Given the description of an element on the screen output the (x, y) to click on. 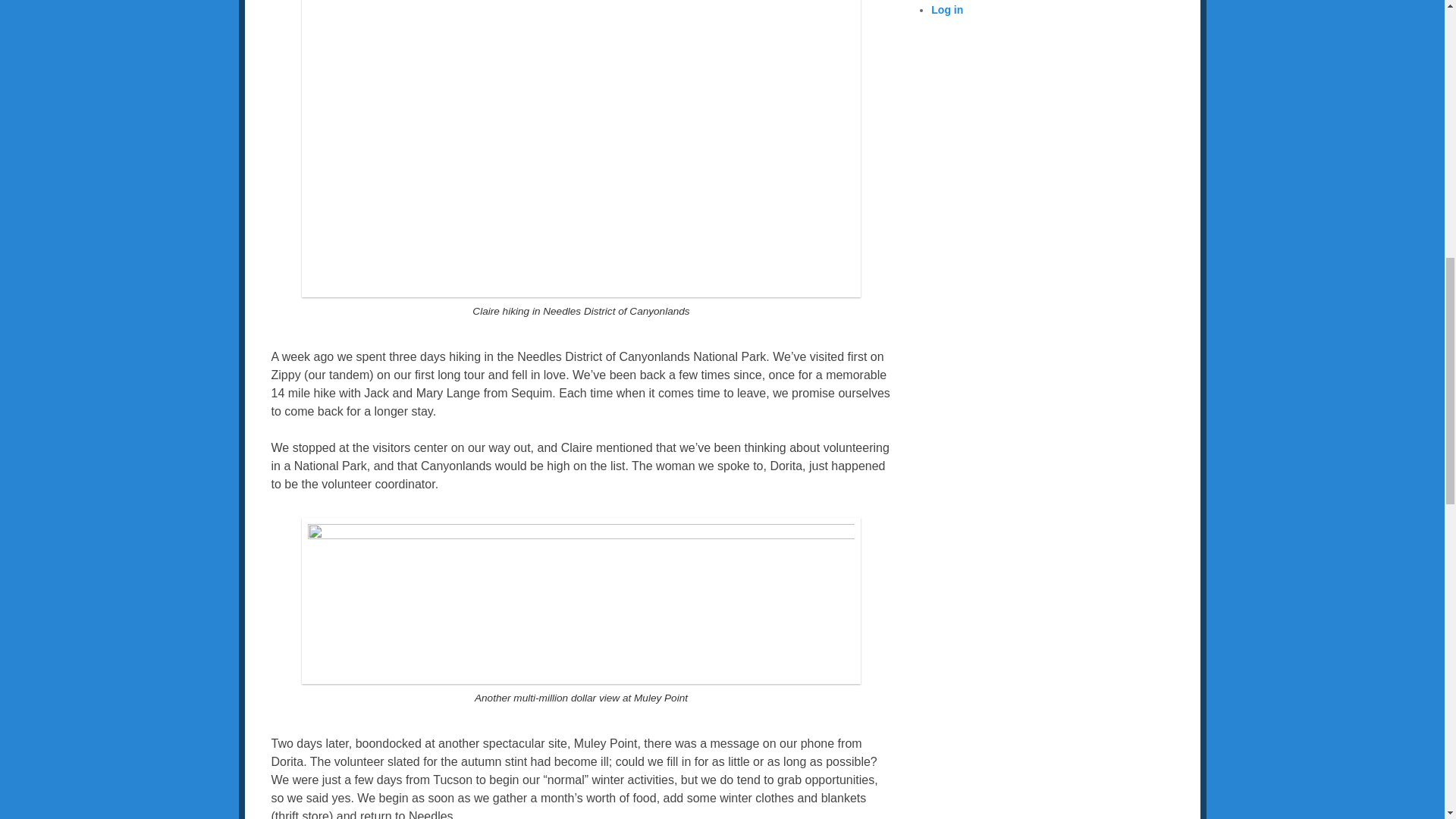
Muley Point Panorama (580, 600)
